Given the description of an element on the screen output the (x, y) to click on. 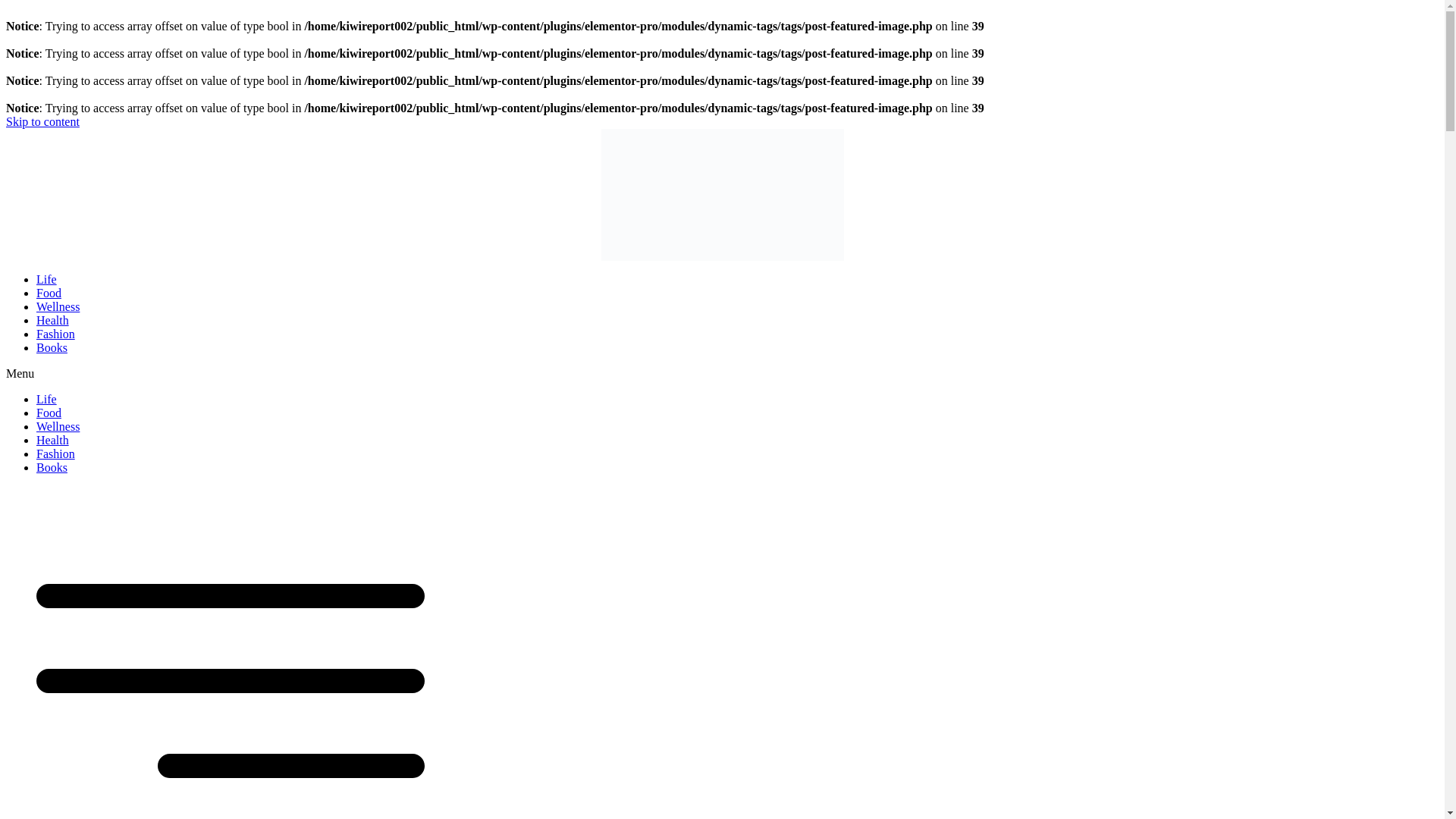
Life (46, 399)
Wellness (58, 306)
Food (48, 292)
Health (52, 319)
Life (46, 278)
Fashion (55, 333)
Food (48, 412)
Books (51, 347)
Books (51, 467)
Wellness (58, 426)
